Given the description of an element on the screen output the (x, y) to click on. 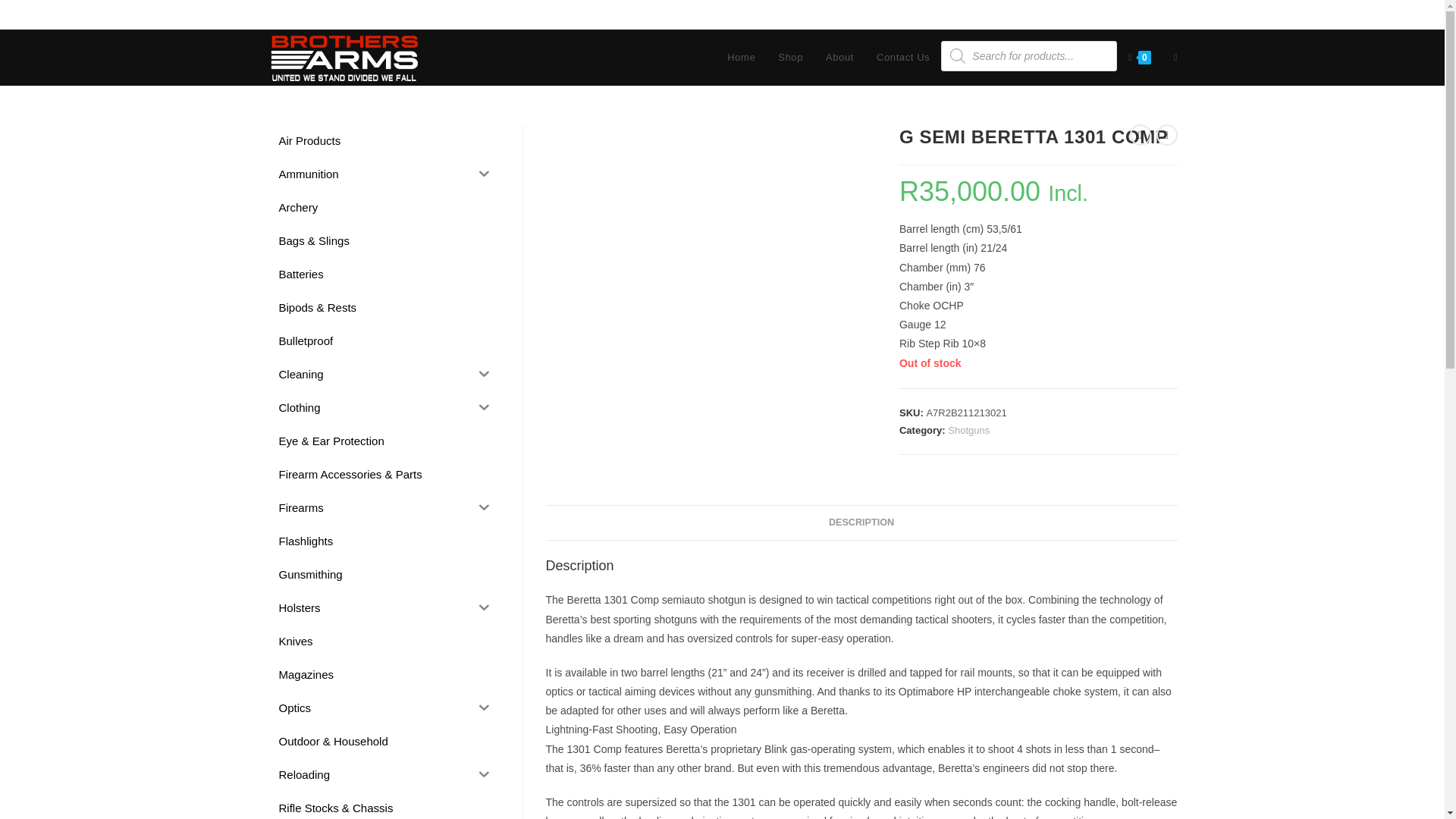
Shotguns (968, 430)
Home (741, 57)
About (838, 57)
Contact Us (902, 57)
DESCRIPTION (861, 522)
